Given the description of an element on the screen output the (x, y) to click on. 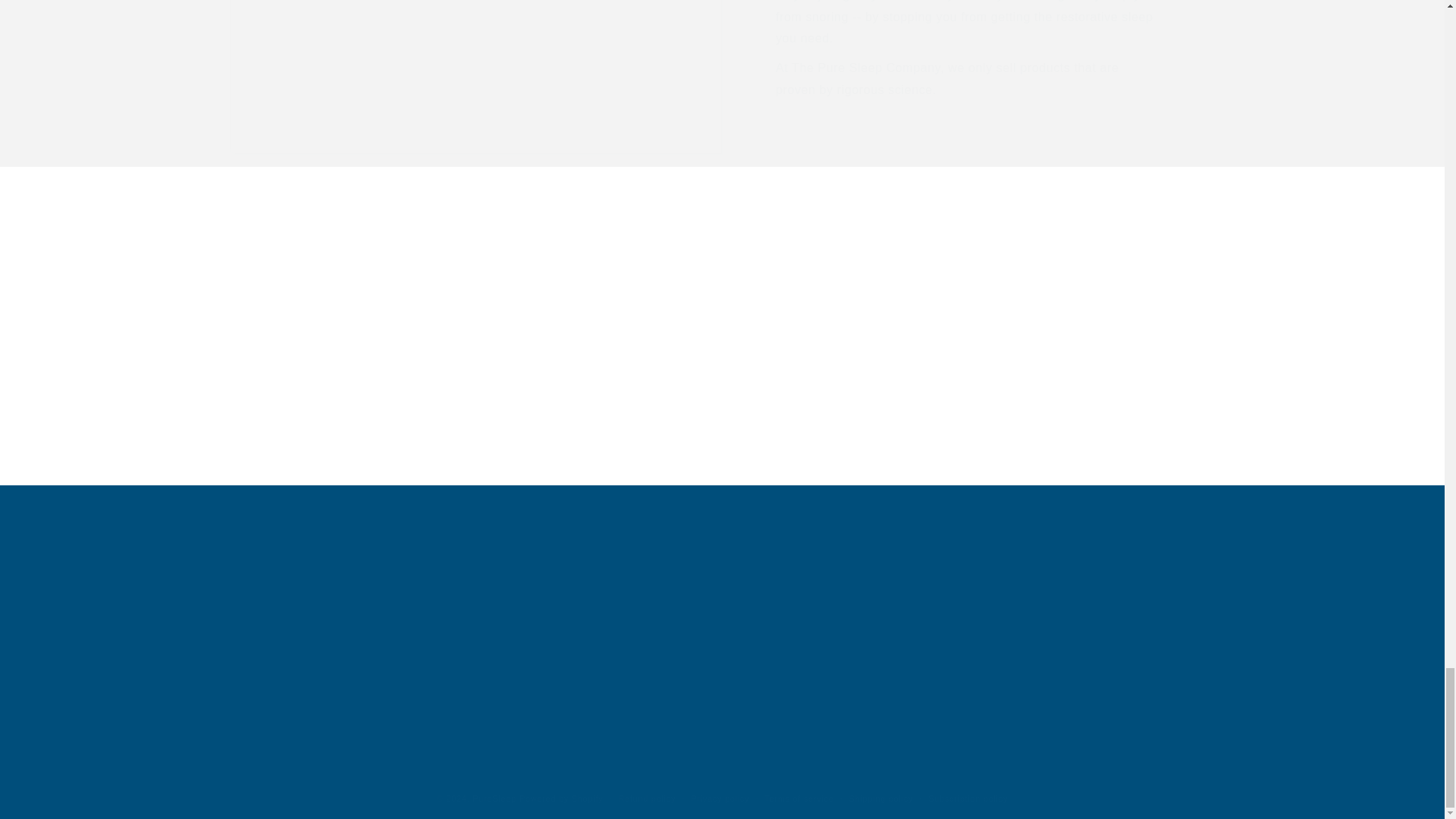
Is PureSleep right for me? (296, 693)
Shop (242, 612)
About Us (252, 640)
How it works (261, 666)
PureSleep (493, 798)
Home (243, 588)
Powered by Shopify (560, 798)
Learn more! (722, 383)
